Given the description of an element on the screen output the (x, y) to click on. 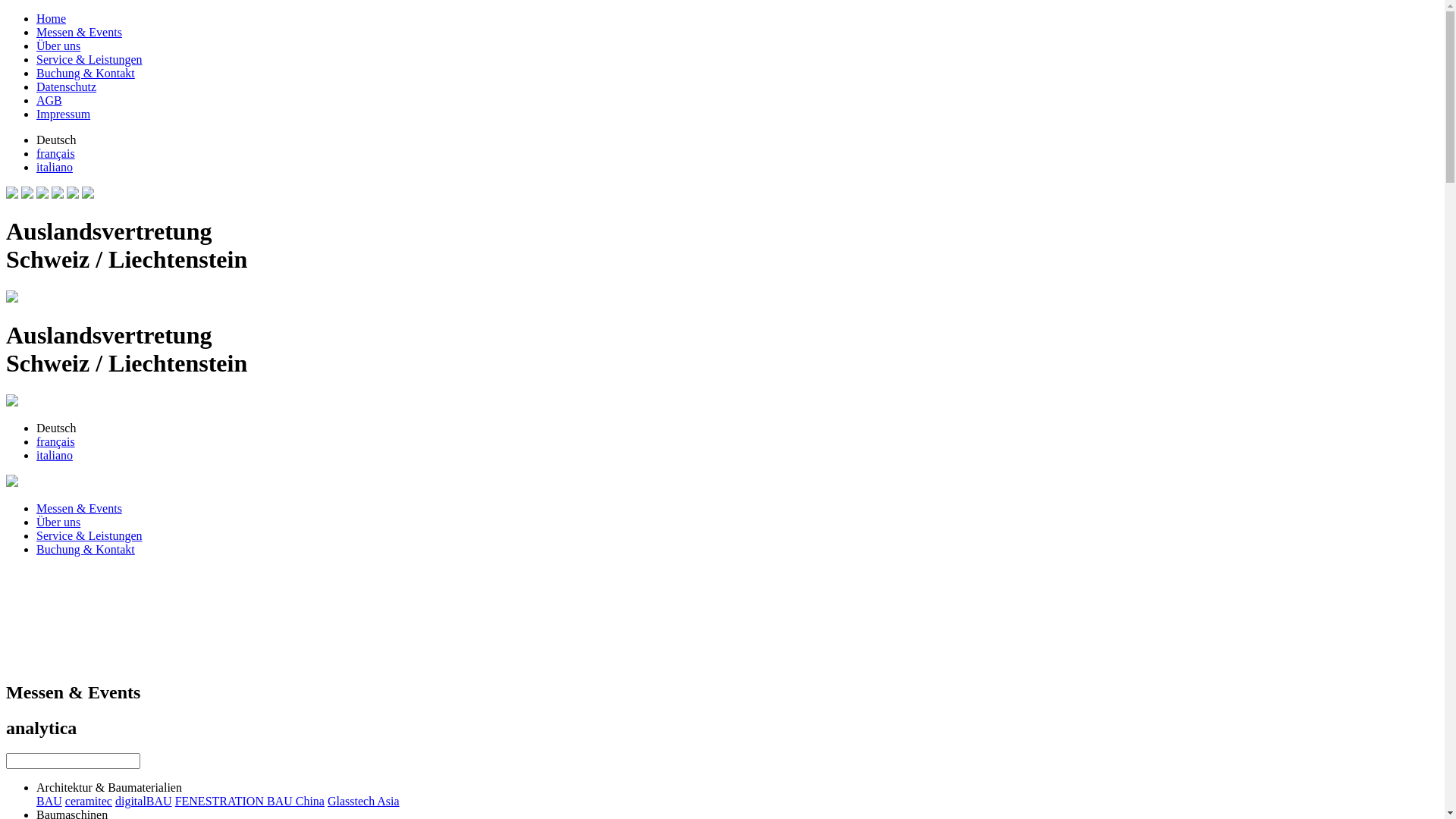
Buchung & Kontakt Element type: text (85, 548)
Solar Promotion Element type: hover (72, 194)
Messen & Events Element type: text (79, 31)
Datenschutz Element type: text (66, 86)
Service & Leistungen Element type: text (89, 535)
GISEC Element type: hover (87, 194)
italiano Element type: text (54, 166)
FENESTRATION BAU China Element type: text (249, 800)
Glasstech Asia Element type: text (363, 800)
Buchung & Kontakt Element type: text (85, 72)
digitalBAU Element type: text (143, 800)
YONTEX Element type: hover (42, 194)
Messen & Events Element type: text (79, 508)
Home Element type: hover (12, 482)
Spielwarenmesse Element type: hover (57, 194)
BAU Element type: text (49, 800)
AGB Element type: text (49, 100)
italiano Element type: text (54, 454)
Impressum Element type: text (63, 113)
Service & Leistungen Element type: text (89, 59)
Home Element type: text (50, 18)
ceramitec Element type: text (88, 800)
